Given the description of an element on the screen output the (x, y) to click on. 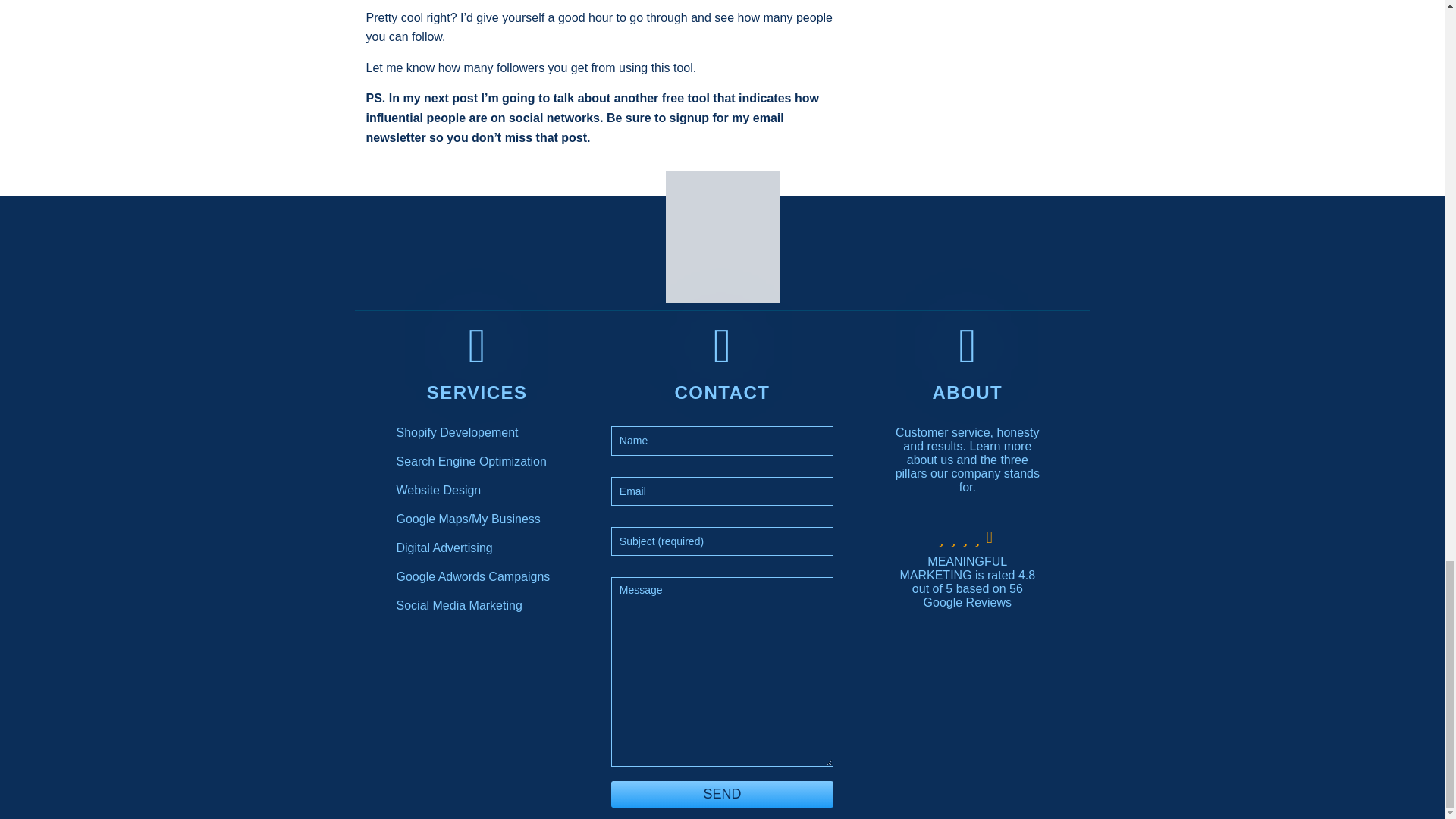
Send (721, 793)
SERVICES (476, 392)
Shopify Developement (457, 431)
